Given the description of an element on the screen output the (x, y) to click on. 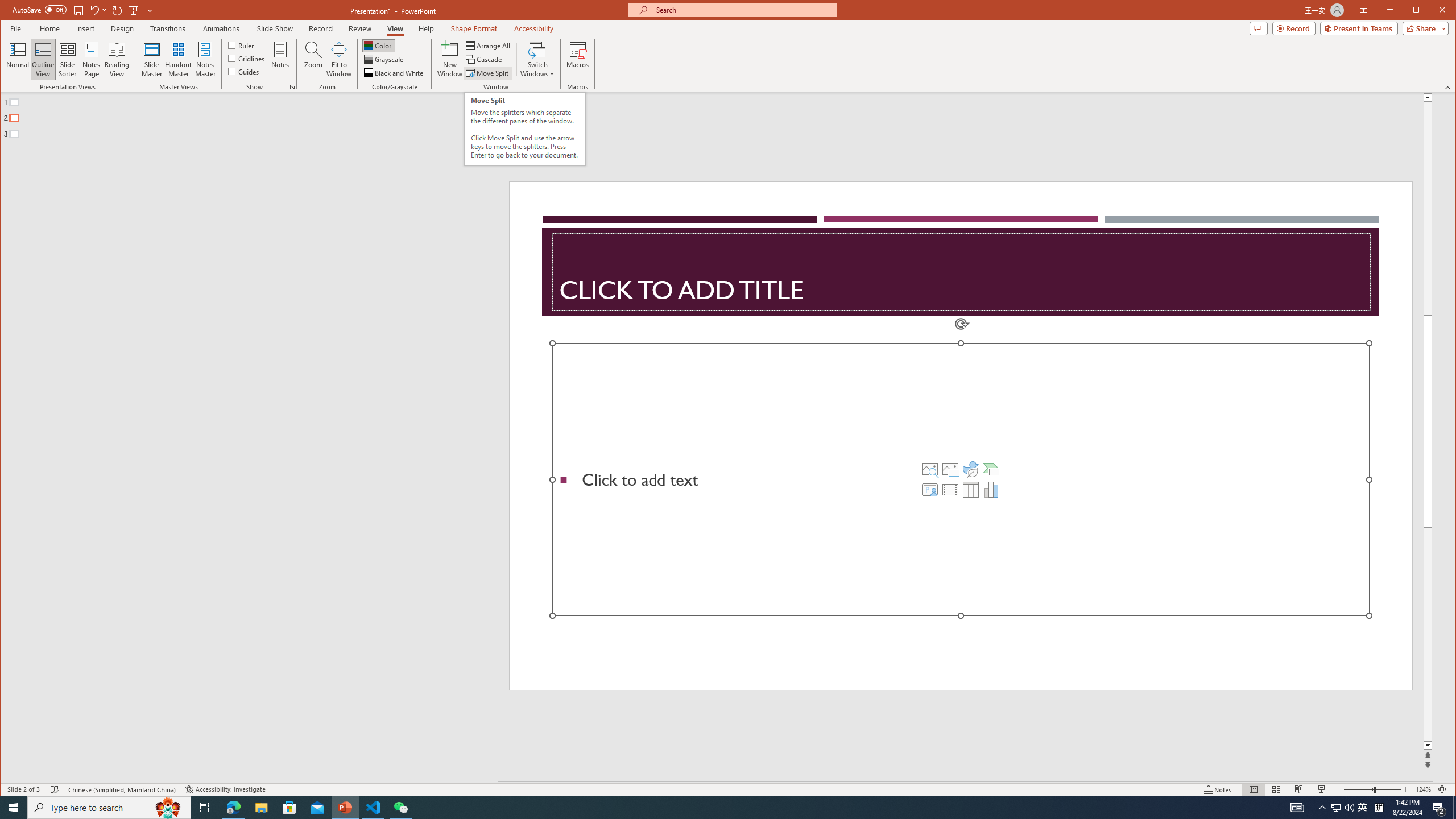
Handout Master (178, 59)
Slide Master (151, 59)
Content Placeholder (960, 479)
